Given the description of an element on the screen output the (x, y) to click on. 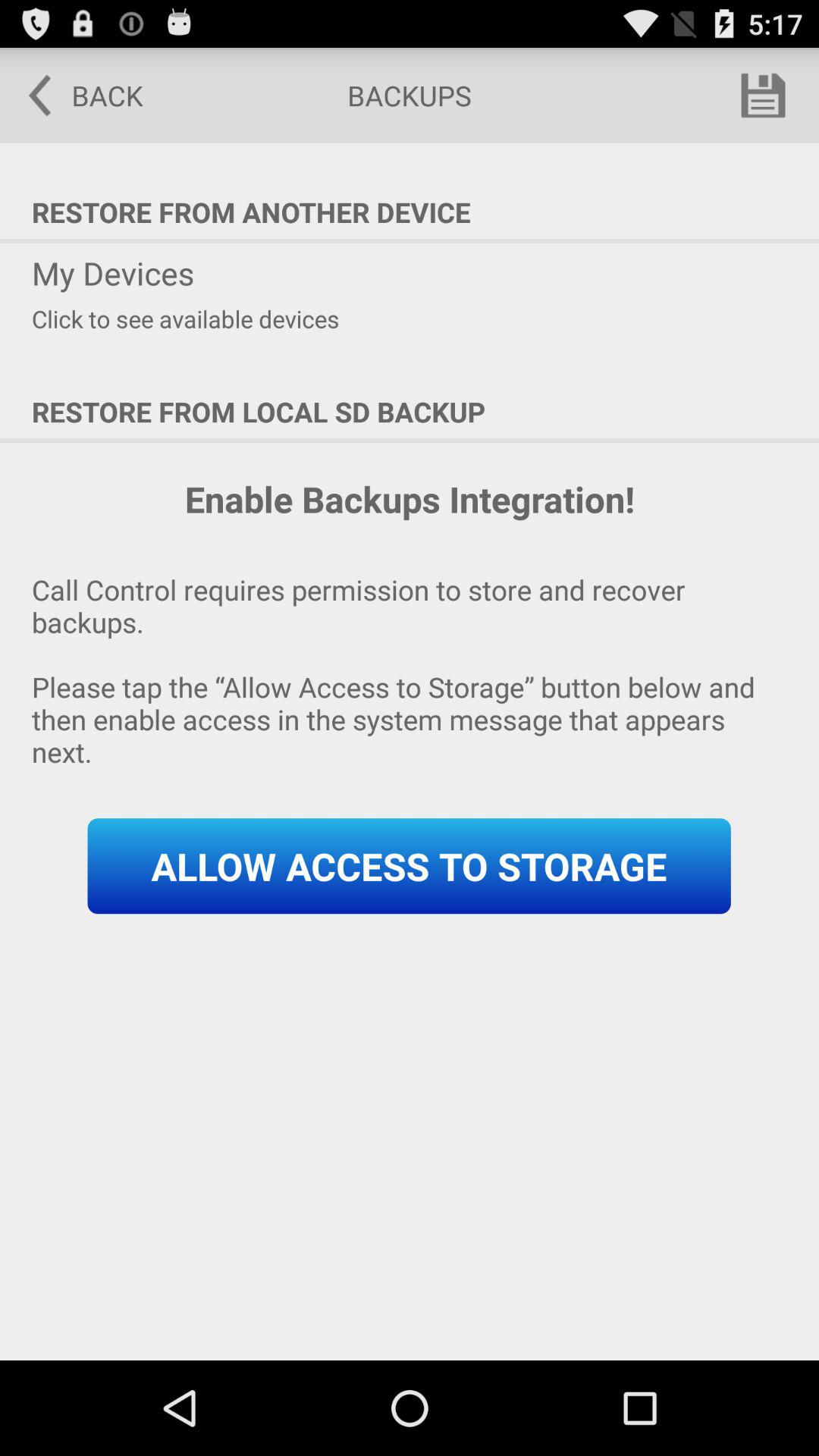
go to bookmark (763, 95)
